Given the description of an element on the screen output the (x, y) to click on. 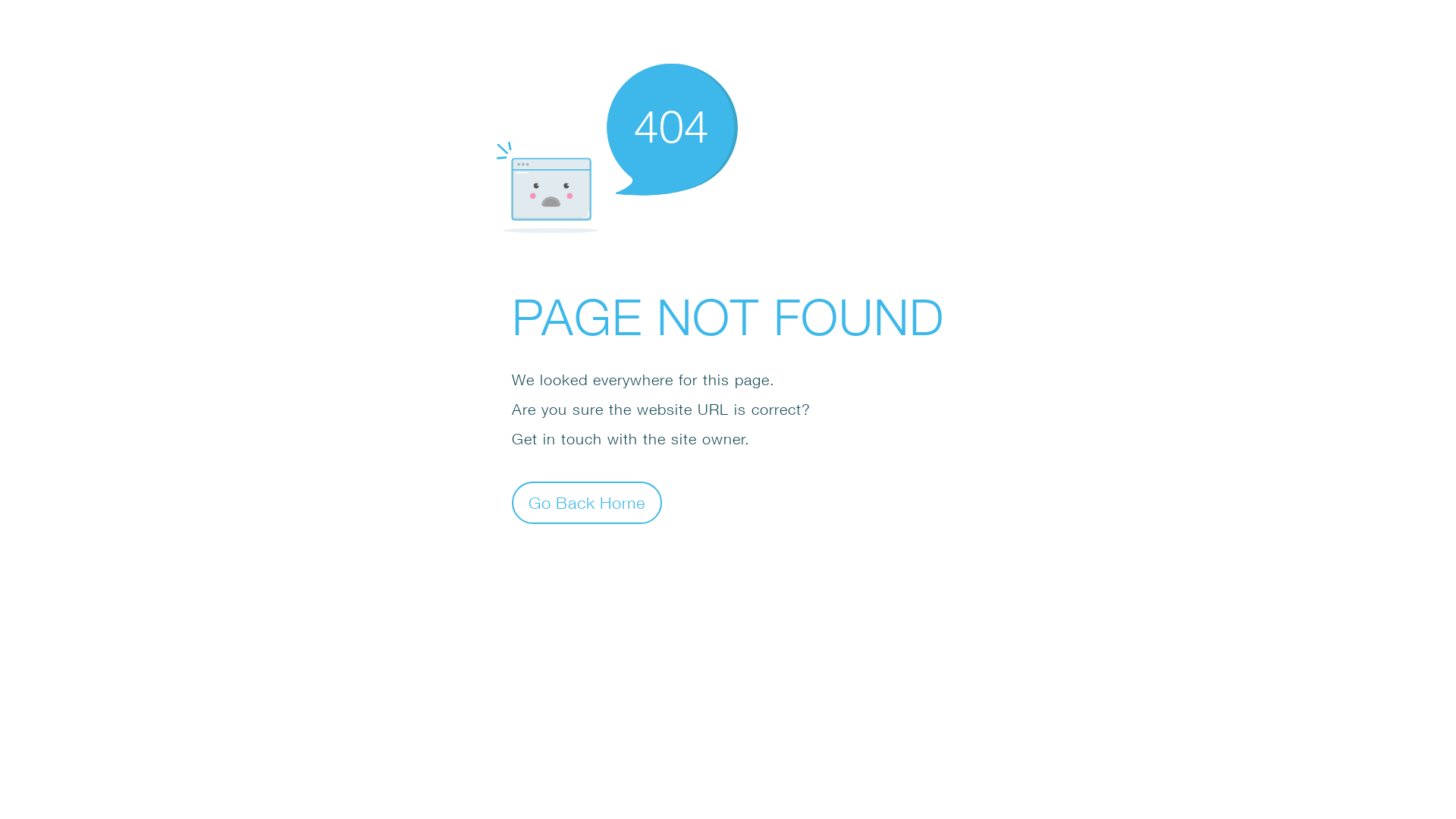
Go Back Home Element type: text (586, 502)
